Given the description of an element on the screen output the (x, y) to click on. 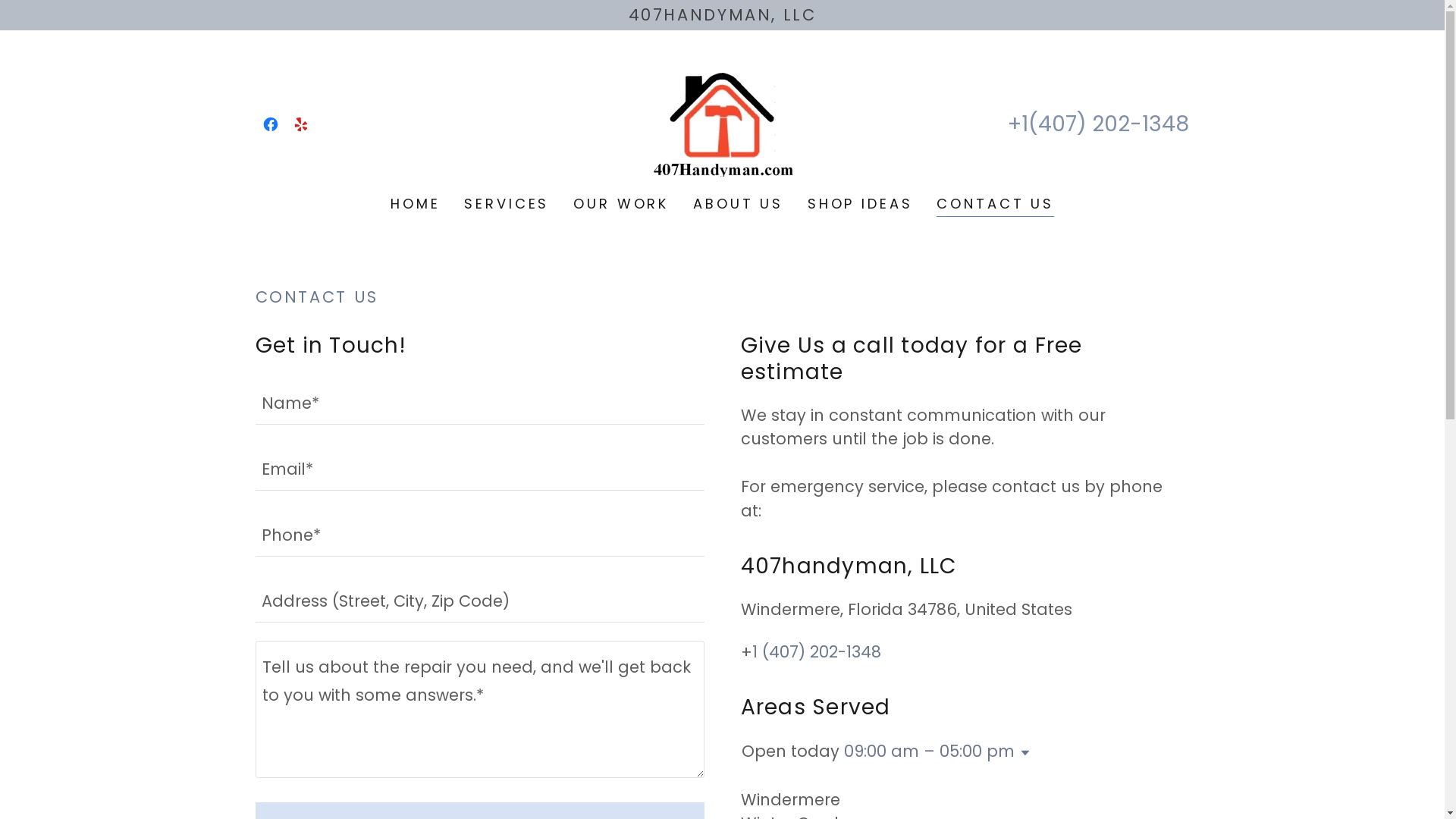
SHOP IDEAS Element type: text (860, 202)
407Handyman Element type: hover (722, 123)
HOME Element type: text (414, 202)
SERVICES Element type: text (506, 202)
+1(407) 202-1348 Element type: text (1098, 123)
1 (407) 202-1348 Element type: text (816, 651)
OUR WORK Element type: text (620, 202)
407HANDYMAN, LLC Element type: text (722, 15)
CONTACT US Element type: text (995, 205)
ABOUT US Element type: text (737, 202)
